Given the description of an element on the screen output the (x, y) to click on. 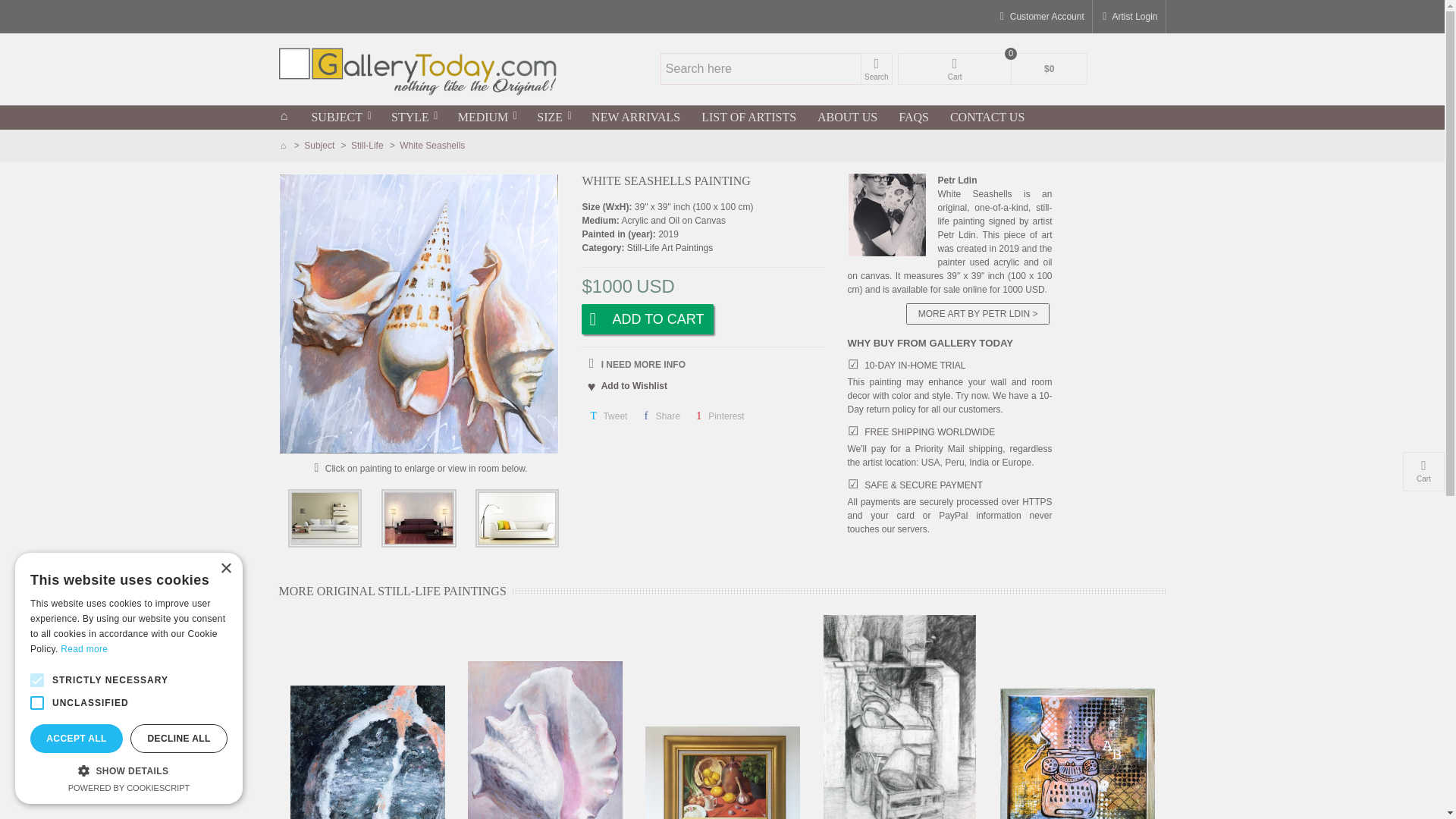
STYLE (413, 117)
Search (876, 69)
Artist Login (1129, 16)
Gallery Today (419, 69)
LIST OF ARTISTS (748, 117)
ABOUT US (847, 117)
Search (876, 69)
SIZE (552, 117)
Customer Account (1040, 16)
Artist Login (1129, 16)
Log in to your customer account (1040, 16)
NEW ARRIVALS (635, 117)
FAQS (913, 117)
SUBJECT (339, 117)
View my shopping cart (992, 69)
